Given the description of an element on the screen output the (x, y) to click on. 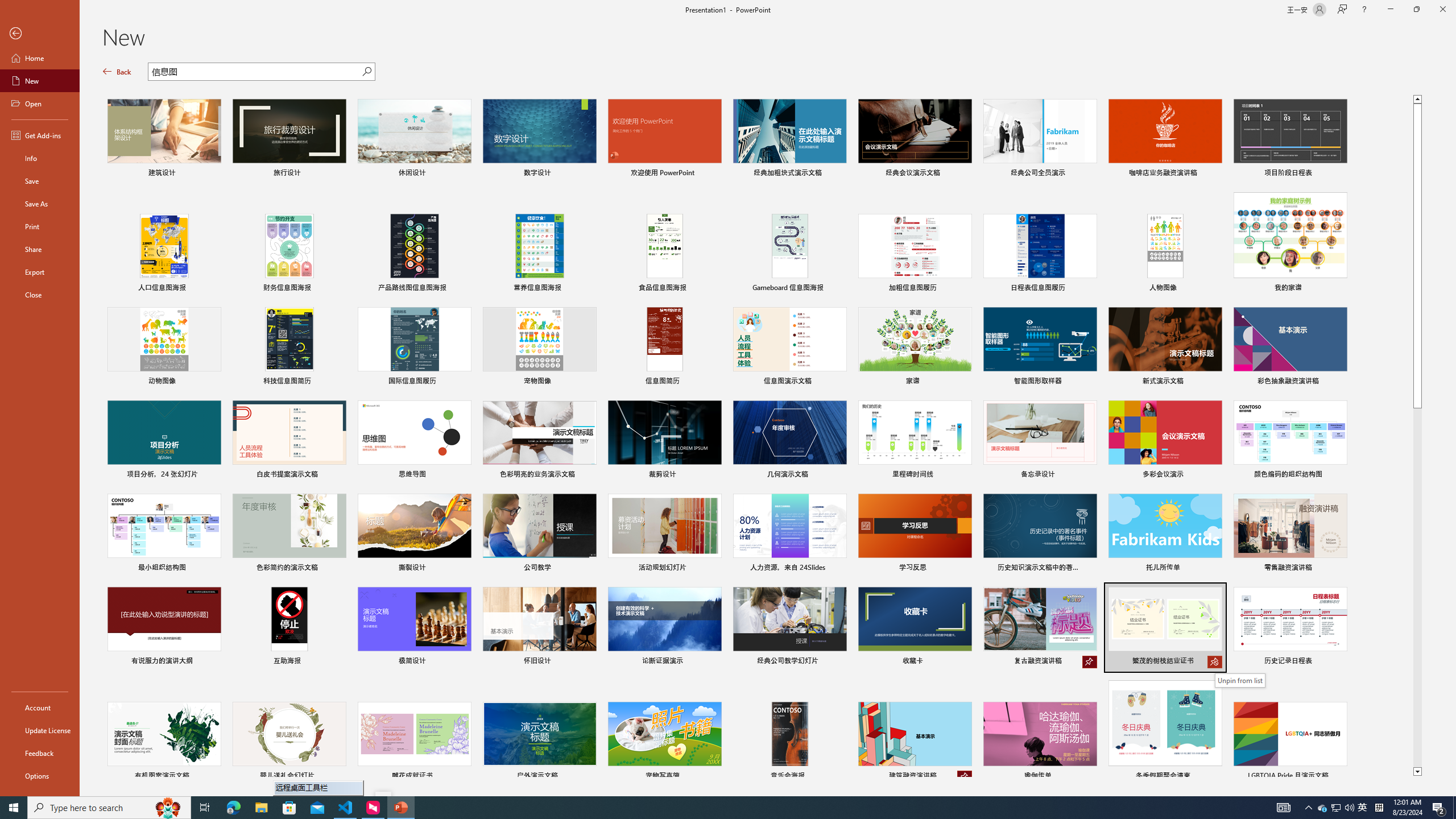
Unpin from list (1239, 680)
Start searching (366, 71)
